Given the description of an element on the screen output the (x, y) to click on. 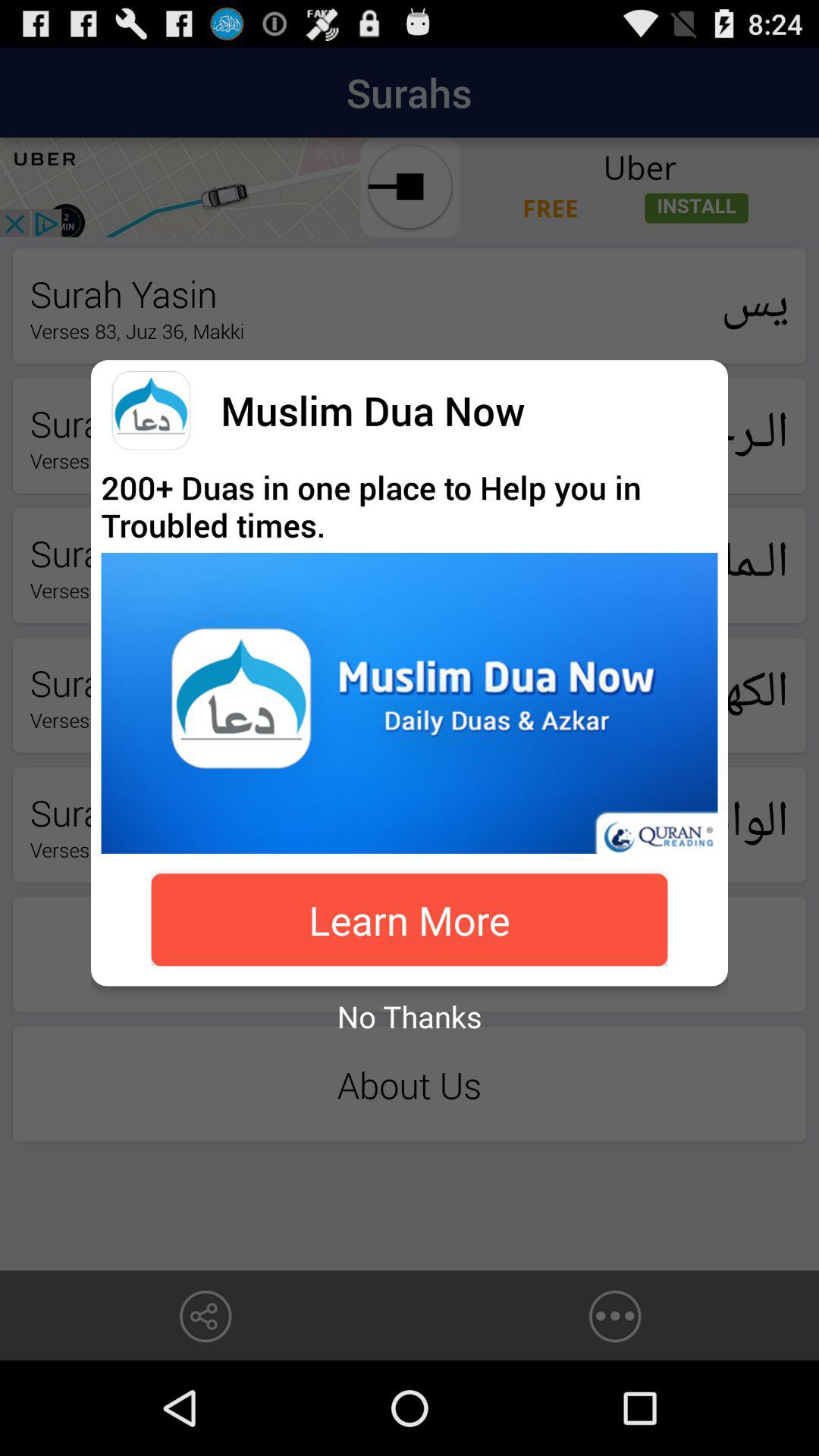
click the no thanks at the bottom (409, 1016)
